Given the description of an element on the screen output the (x, y) to click on. 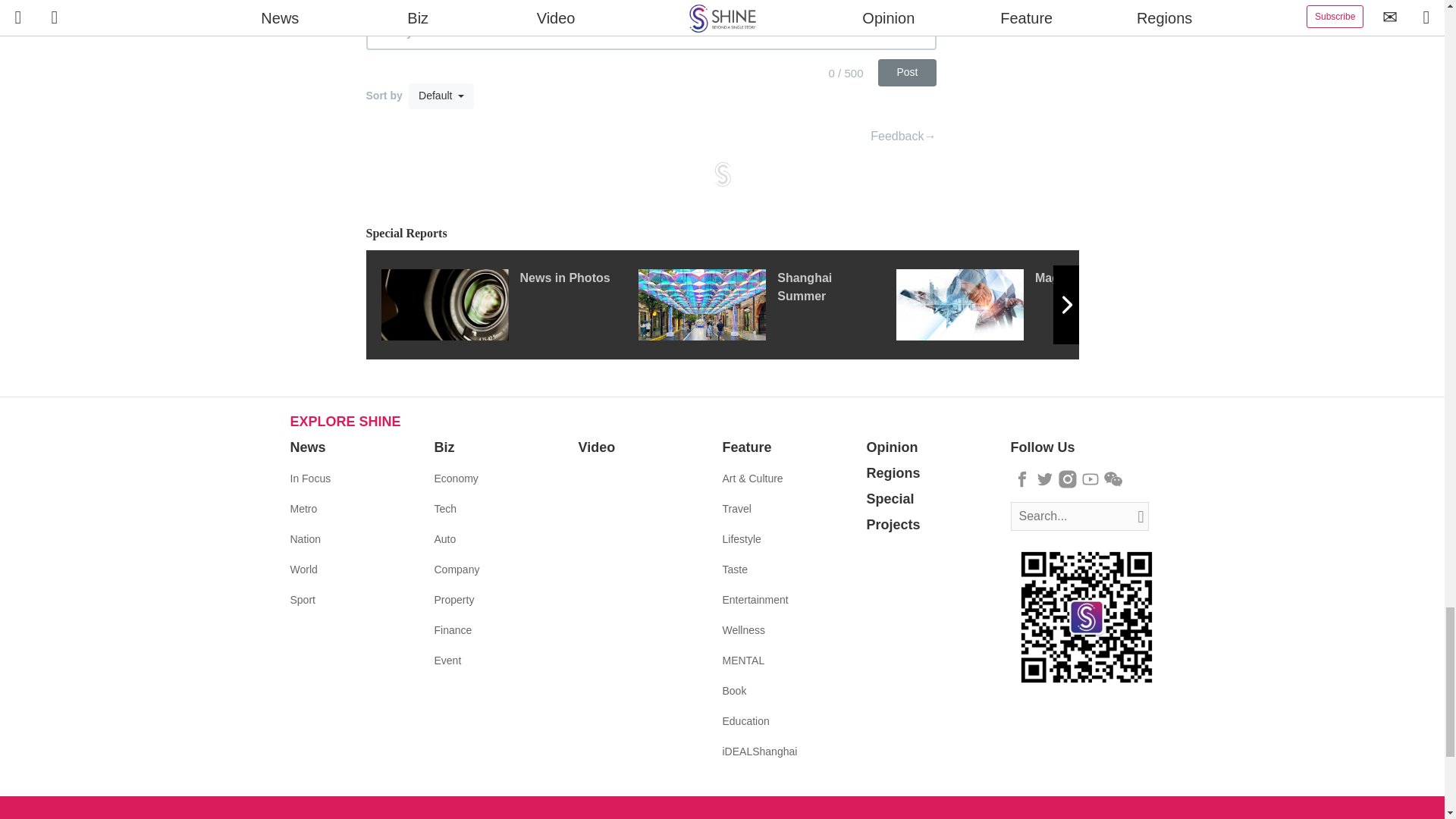
Follow us on Facebook (1021, 479)
Special Reports (721, 233)
News in Photos (508, 304)
Default   (441, 95)
Shanghai Summer (767, 304)
Follow us on Instagram (1067, 479)
Follow us on Wechat (1112, 479)
Follow us on Twitter (1044, 479)
Follow us on Youtube (1090, 479)
MagHub (1024, 304)
